Given the description of an element on the screen output the (x, y) to click on. 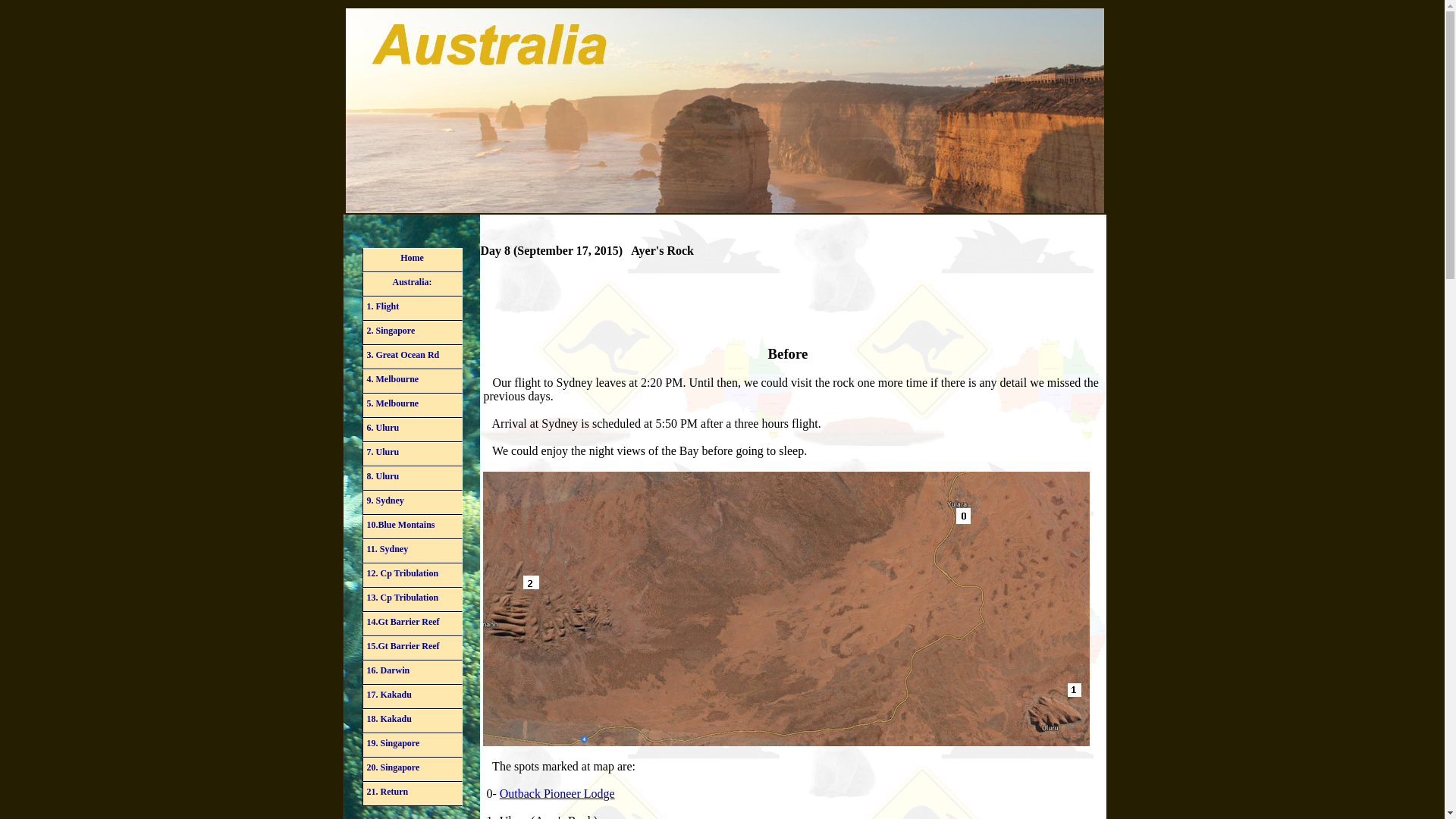
15.Gt Barrier Reef (412, 648)
11. Sydney (412, 550)
13. Cp Tribulation (412, 599)
4. Melbourne (412, 381)
5. Melbourne (412, 405)
14.Gt Barrier Reef (412, 623)
Australia: (412, 283)
20. Singapore (412, 769)
18. Kakadu (412, 721)
2. Singapore (412, 332)
